Given the description of an element on the screen output the (x, y) to click on. 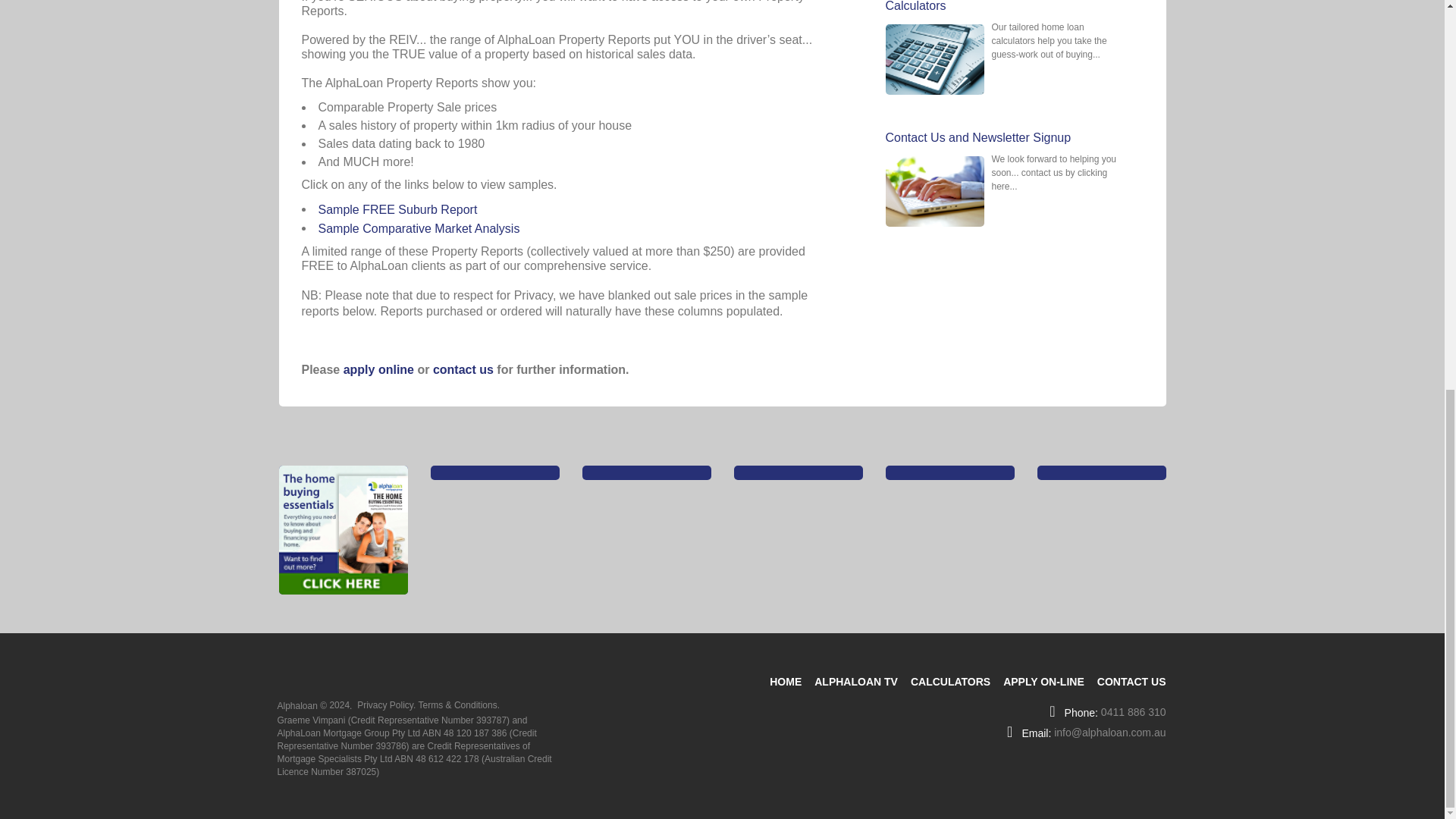
Sample FREE Suburb Report (397, 209)
Sample Comparative Market Analysis (418, 228)
apply online (378, 368)
